Given the description of an element on the screen output the (x, y) to click on. 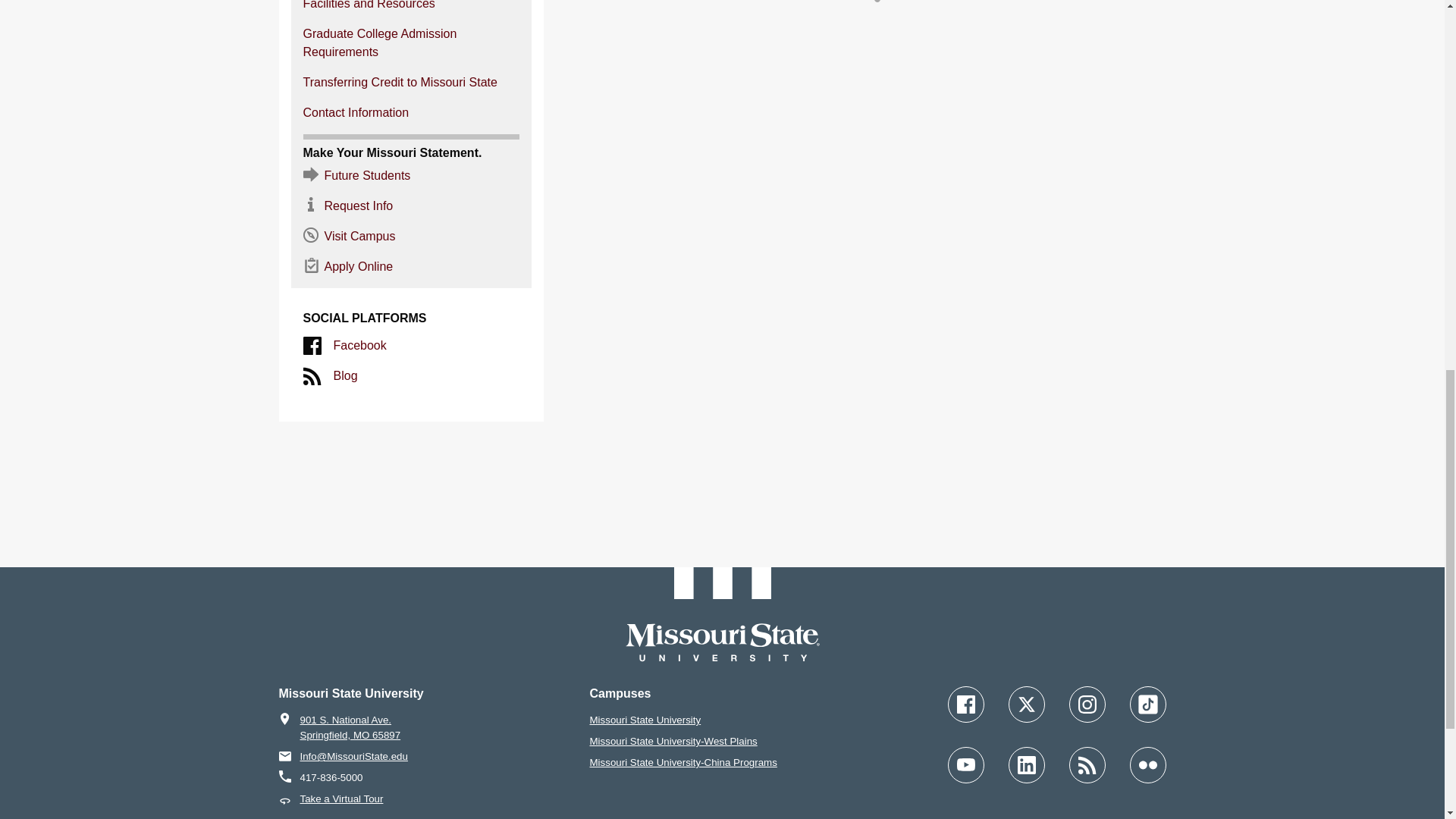
Follow Missouri State on TikTok (1147, 704)
Follow Missouri State on X (1027, 704)
Follow Missouri State on Instagram (1086, 704)
Follow Missouri State on YouTube (965, 764)
Follow Missouri State on Facebook (965, 704)
Follow Missouri State Blogs (1086, 764)
Follow Missouri State on Flickr (1147, 764)
Follow Missouri State on LinkedIn (1027, 764)
